Given the description of an element on the screen output the (x, y) to click on. 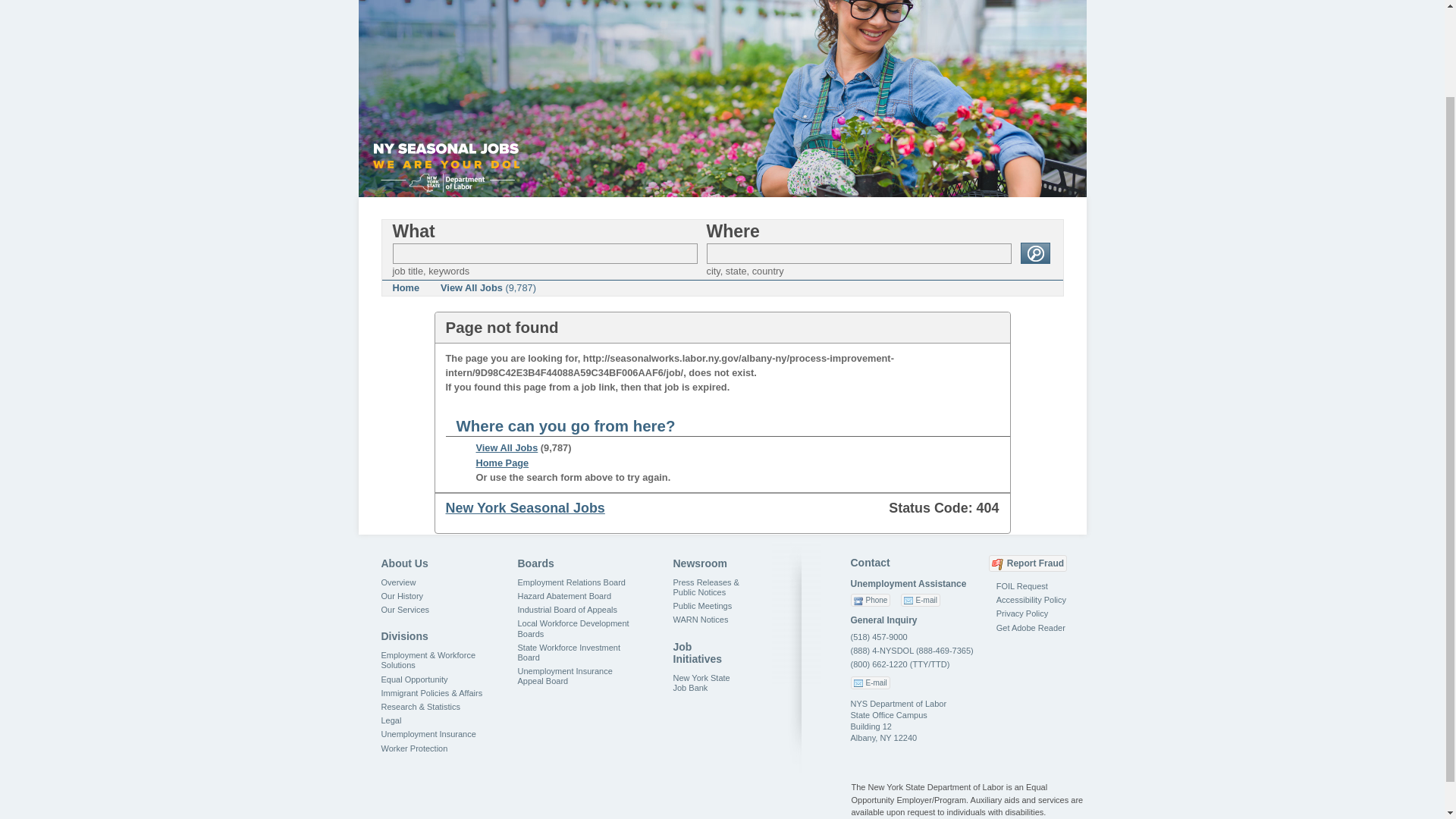
Local Workforce Development Boards (572, 628)
search (1034, 252)
Search Location (858, 253)
Equal Opportunity (413, 678)
Report Fraud (1027, 563)
Get Adobe Reader (1030, 627)
Phone (870, 599)
Home (405, 287)
Legal (390, 719)
E-mail (869, 682)
New York Seasonal Jobs (525, 507)
Submit Search (1034, 252)
FOIL Request (1021, 585)
Hazard Abatement Board (563, 595)
E-mail (920, 599)
